Given the description of an element on the screen output the (x, y) to click on. 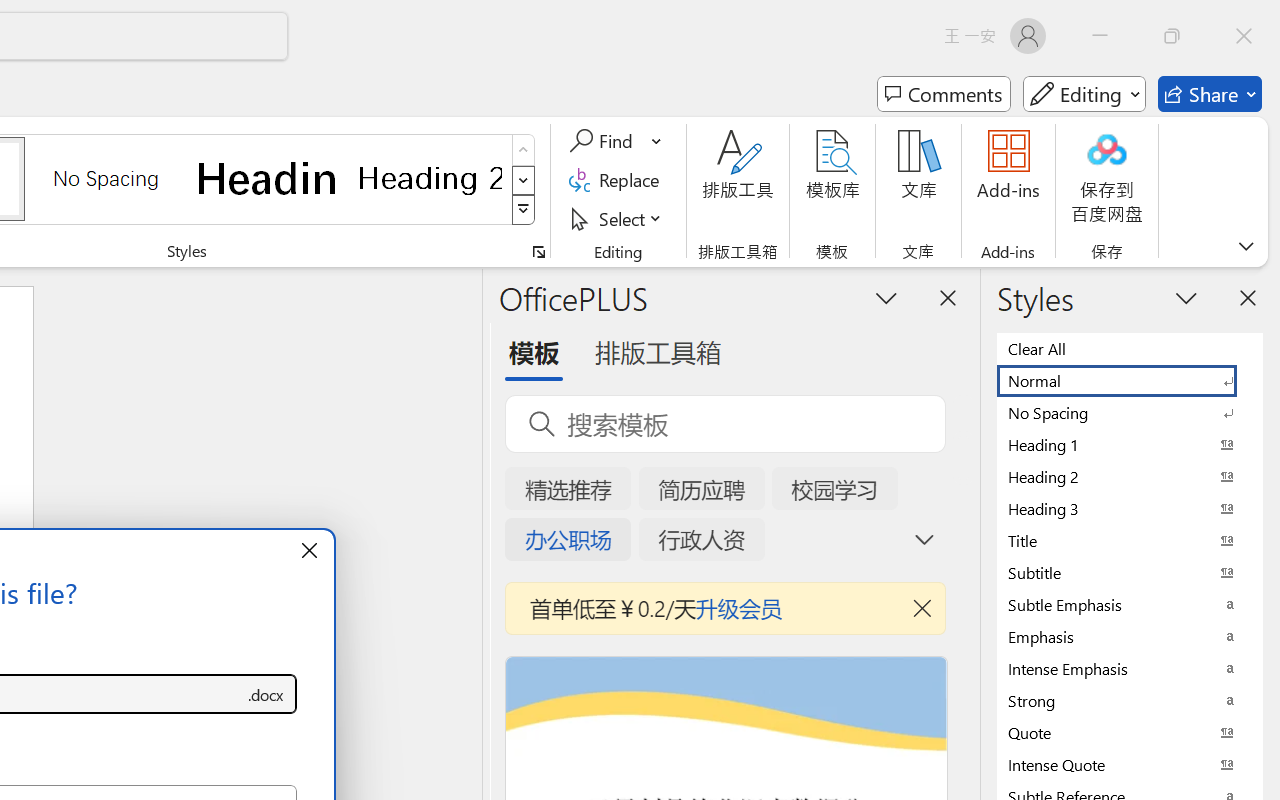
Minimize (1099, 36)
Close (1244, 36)
Heading 1 (267, 178)
Strong (1130, 700)
Intense Emphasis (1130, 668)
Find (604, 141)
Subtle Emphasis (1130, 604)
Styles... (538, 252)
Styles (523, 209)
